Given the description of an element on the screen output the (x, y) to click on. 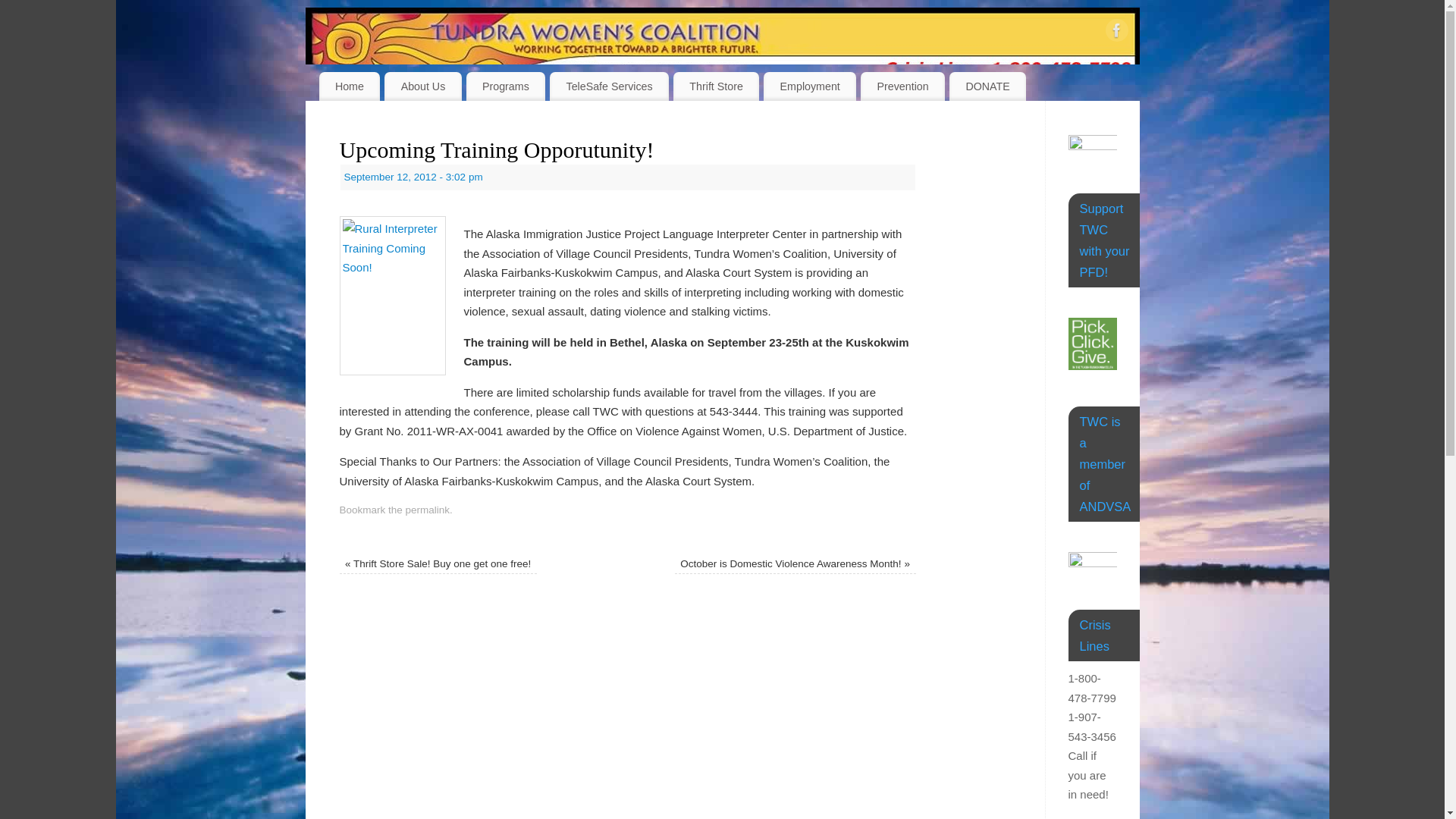
3:02 pm (413, 176)
Employment (809, 86)
Home (349, 86)
TeleSafe Services (609, 86)
Prevention (902, 86)
Thrift Store (715, 86)
Permalink to Upcoming Training Opporutunity! (427, 509)
Programs (505, 86)
About Us (422, 86)
DONATE (987, 86)
